Given the description of an element on the screen output the (x, y) to click on. 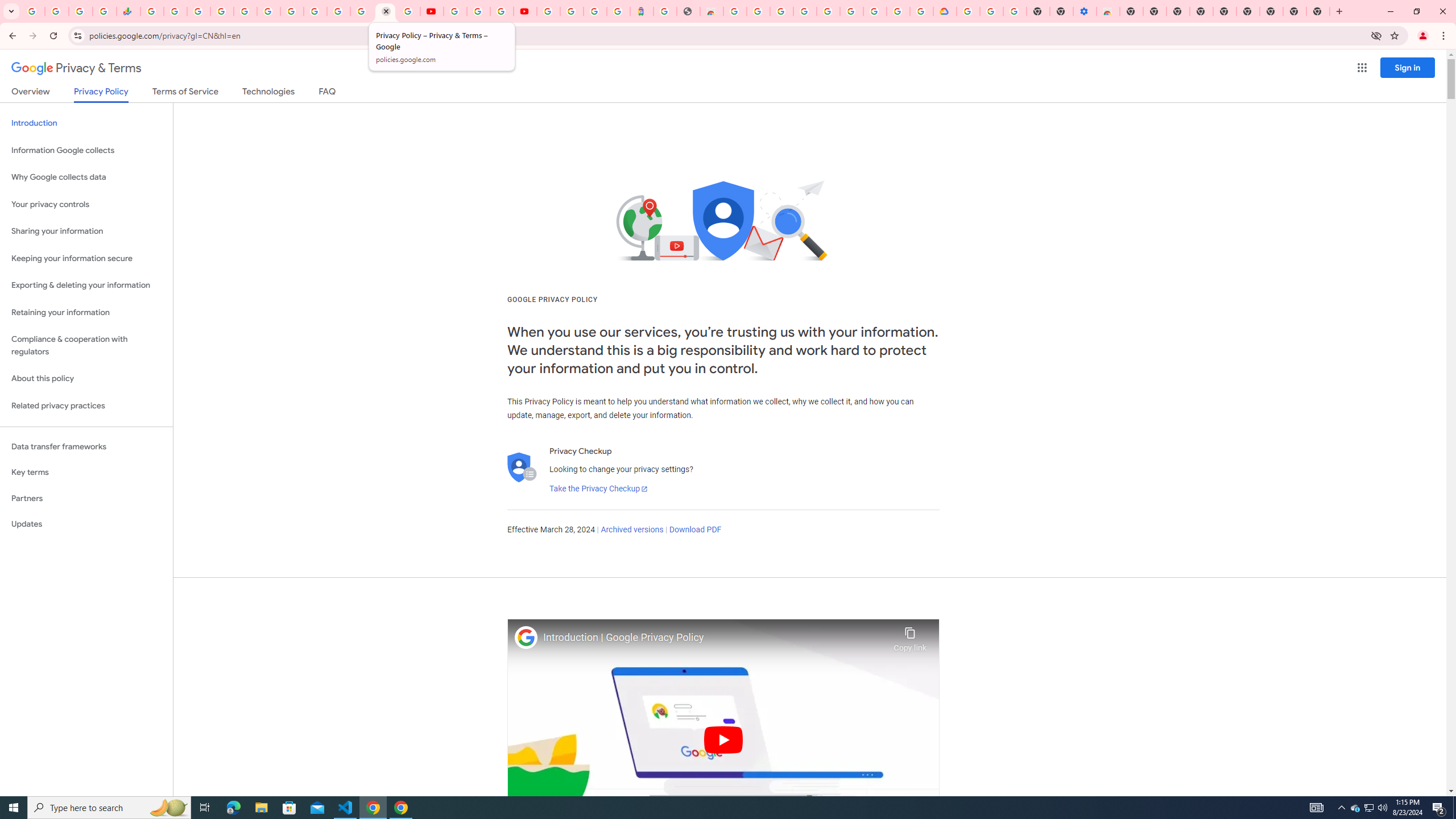
Copy link (909, 636)
Sign in - Google Accounts (221, 11)
New Tab (1318, 11)
Exporting & deleting your information (86, 284)
Take the Privacy Checkup (597, 488)
Photo image of Google (526, 636)
Content Creator Programs & Opportunities - YouTube Creators (524, 11)
Sign in - Google Accounts (338, 11)
